Given the description of an element on the screen output the (x, y) to click on. 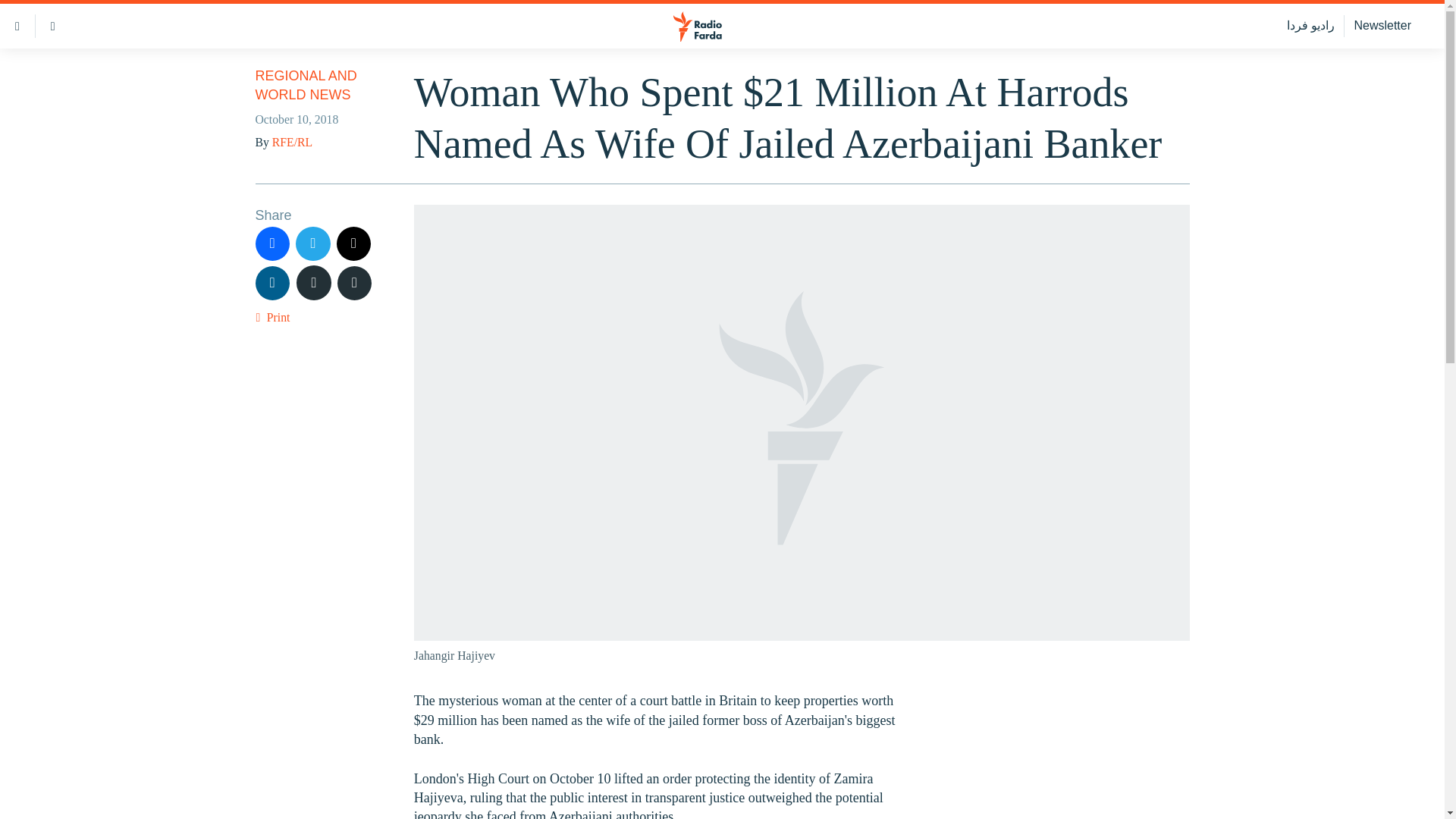
Newsletter (1382, 25)
text (314, 282)
Newsletter (1382, 25)
REGIONAL AND WORLD NEWS (305, 84)
